Given the description of an element on the screen output the (x, y) to click on. 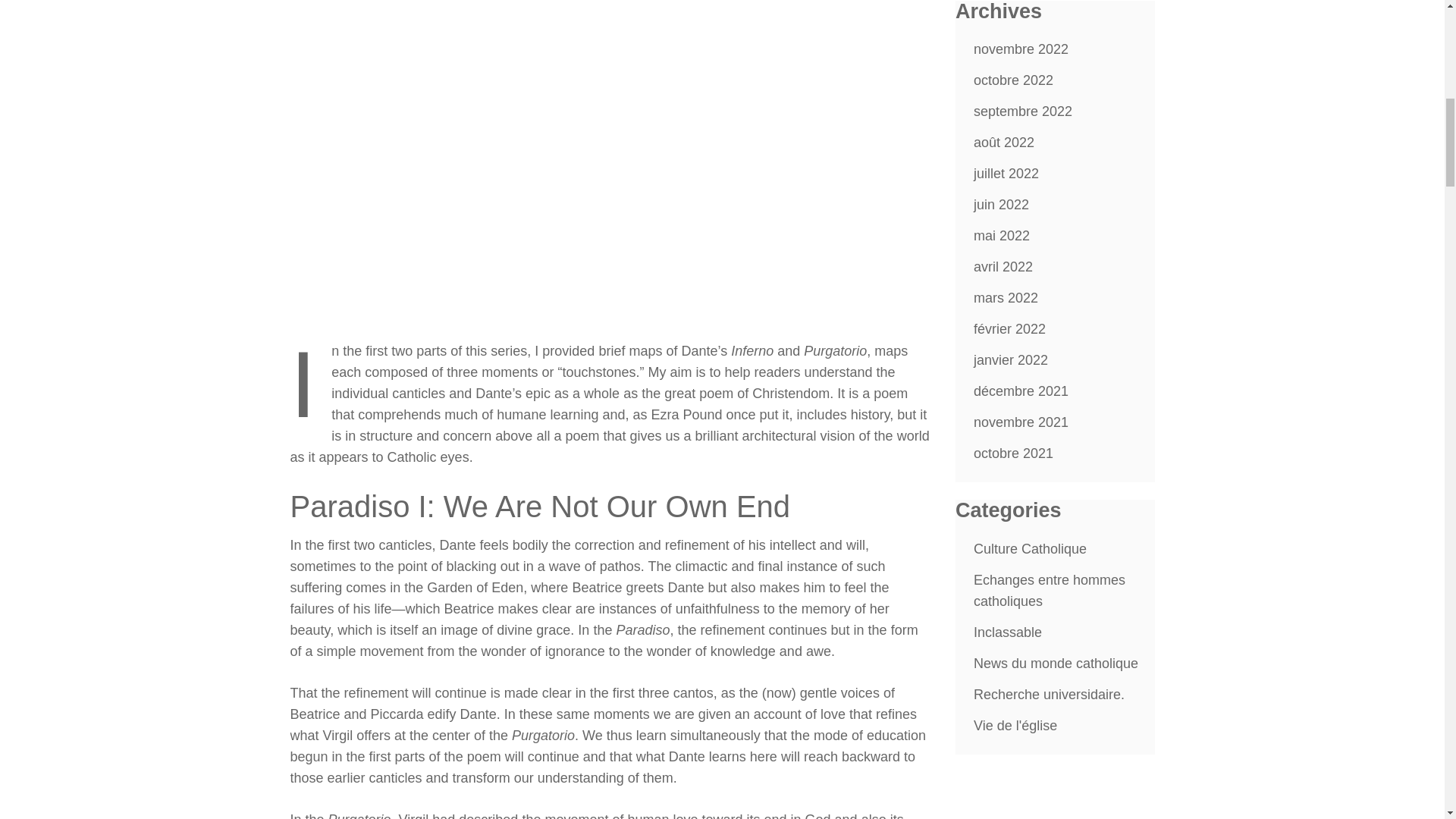
octobre 2022 (1013, 79)
mars 2022 (1006, 297)
juin 2022 (1001, 204)
avril 2022 (1003, 266)
septembre 2022 (1022, 111)
janvier 2022 (1011, 359)
novembre 2022 (1021, 48)
mai 2022 (1001, 235)
juillet 2022 (1006, 173)
